Given the description of an element on the screen output the (x, y) to click on. 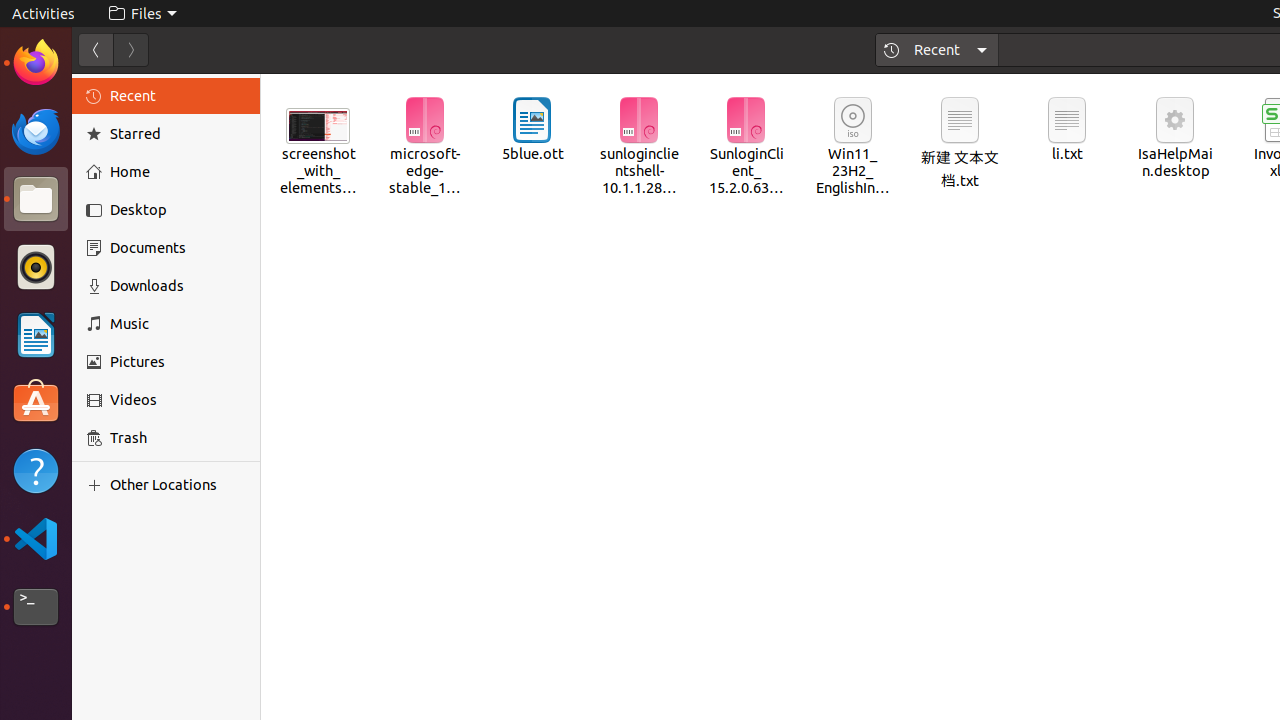
Desktop Element type: label (178, 210)
Recent Element type: push-button (937, 50)
Trash Element type: label (133, 191)
sunloginclientshell-10.1.1.28779-amd64.deb Element type: canvas (639, 147)
Pictures Element type: label (178, 362)
